Given the description of an element on the screen output the (x, y) to click on. 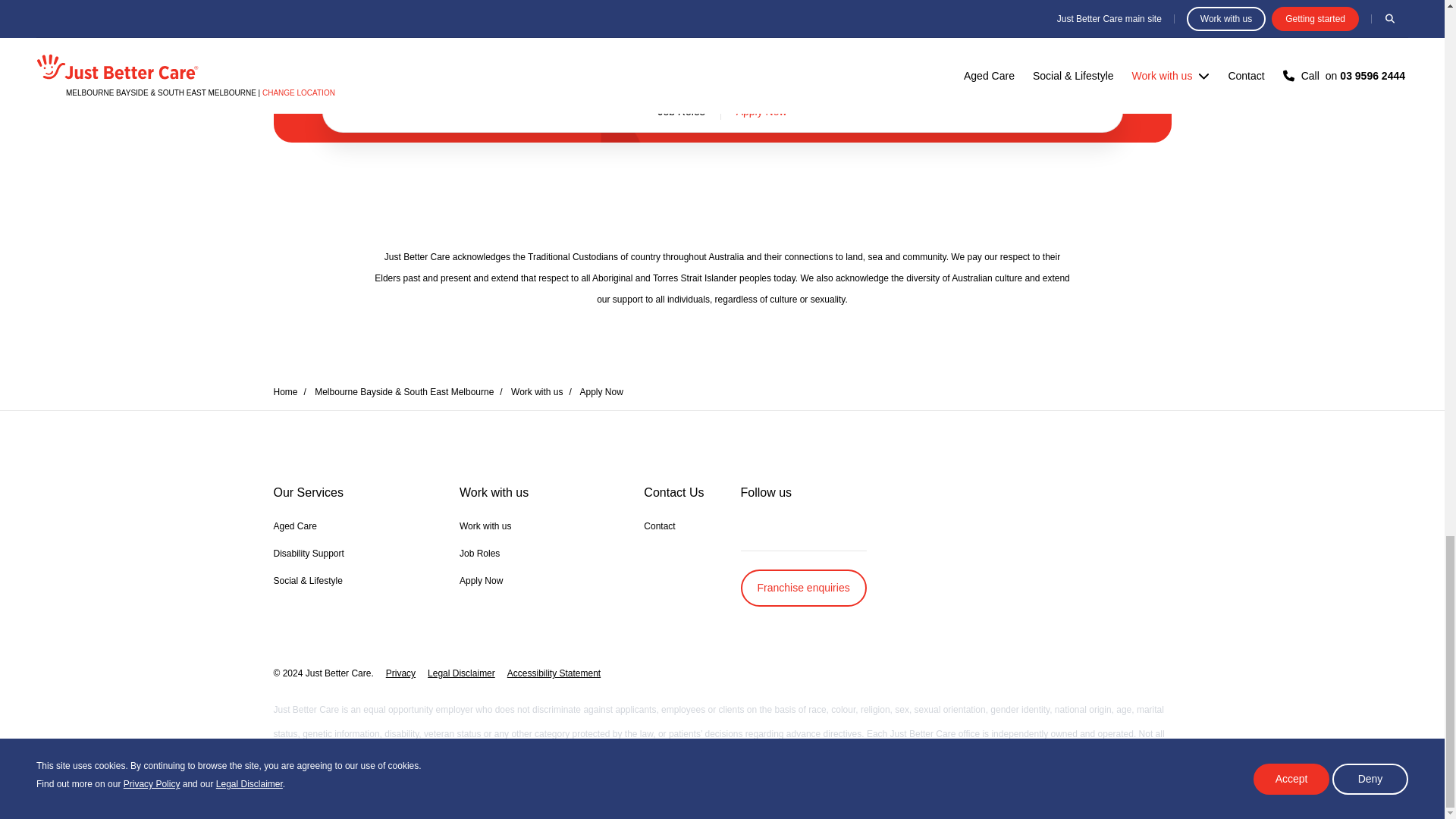
Privacy Policy (627, 14)
